Given the description of an element on the screen output the (x, y) to click on. 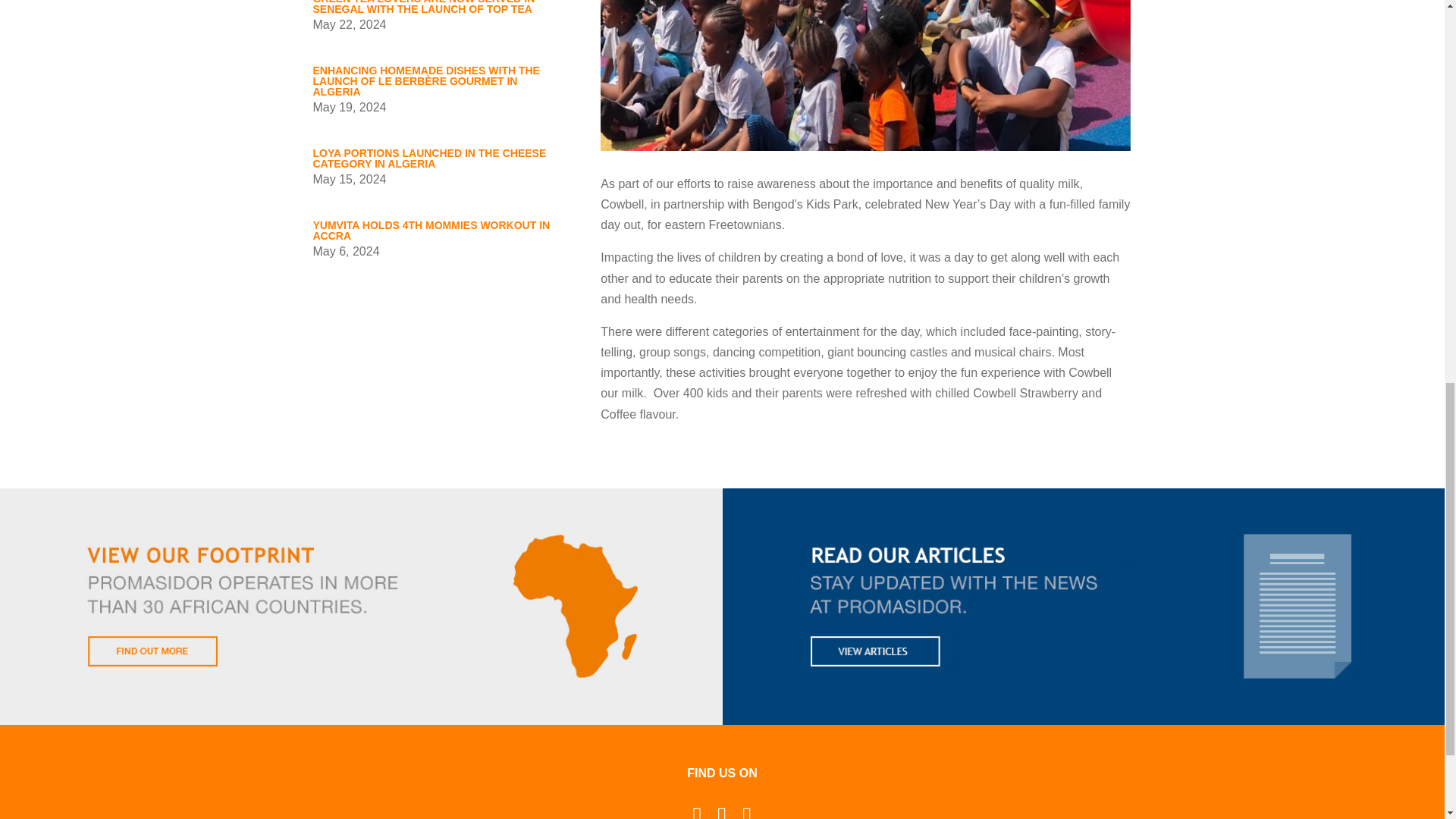
YUMVITA HOLDS 4TH MOMMIES WORKOUT IN ACCRA (431, 230)
LOYA PORTIONS LAUNCHED IN THE CHEESE CATEGORY IN ALGERIA (429, 158)
